Given the description of an element on the screen output the (x, y) to click on. 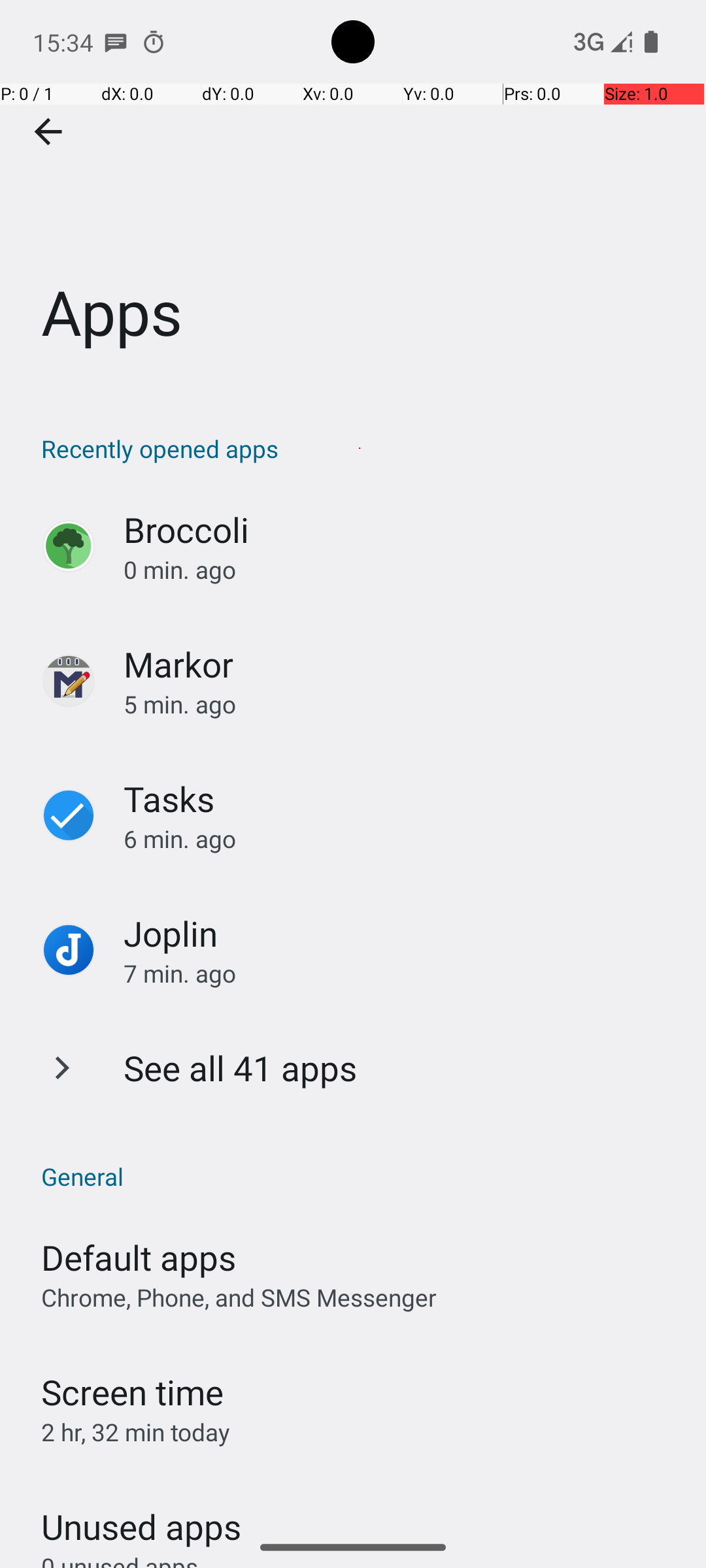
5 min. ago Element type: android.widget.TextView (400, 703)
6 min. ago Element type: android.widget.TextView (400, 838)
7 min. ago Element type: android.widget.TextView (400, 972)
2 hr, 32 min today Element type: android.widget.TextView (135, 1431)
